Given the description of an element on the screen output the (x, y) to click on. 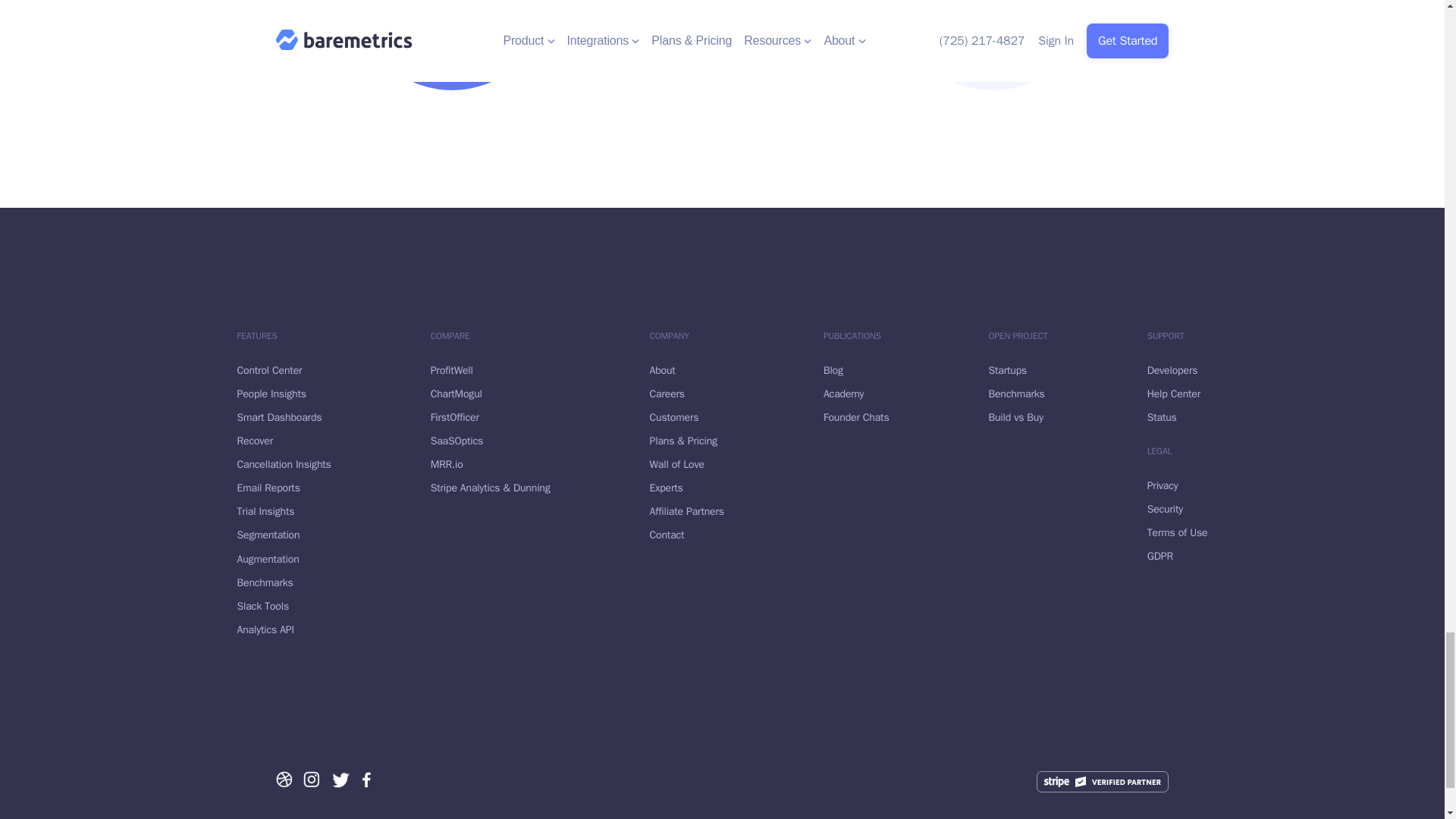
Stripe Verified Partner check mark (1102, 781)
